Given the description of an element on the screen output the (x, y) to click on. 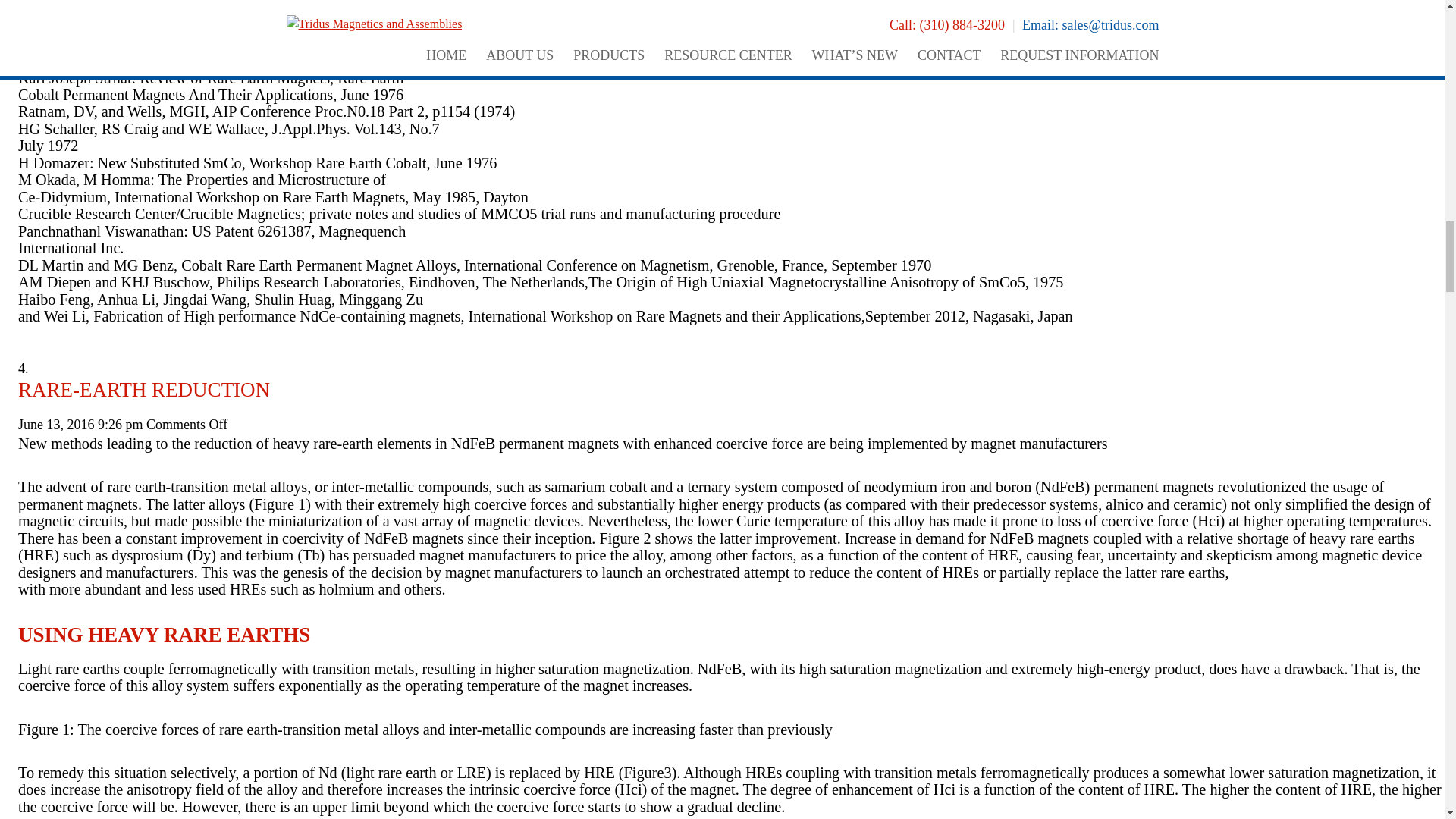
Permalink to Rare-earth reduction (143, 389)
RARE-EARTH REDUCTION (143, 389)
